Given the description of an element on the screen output the (x, y) to click on. 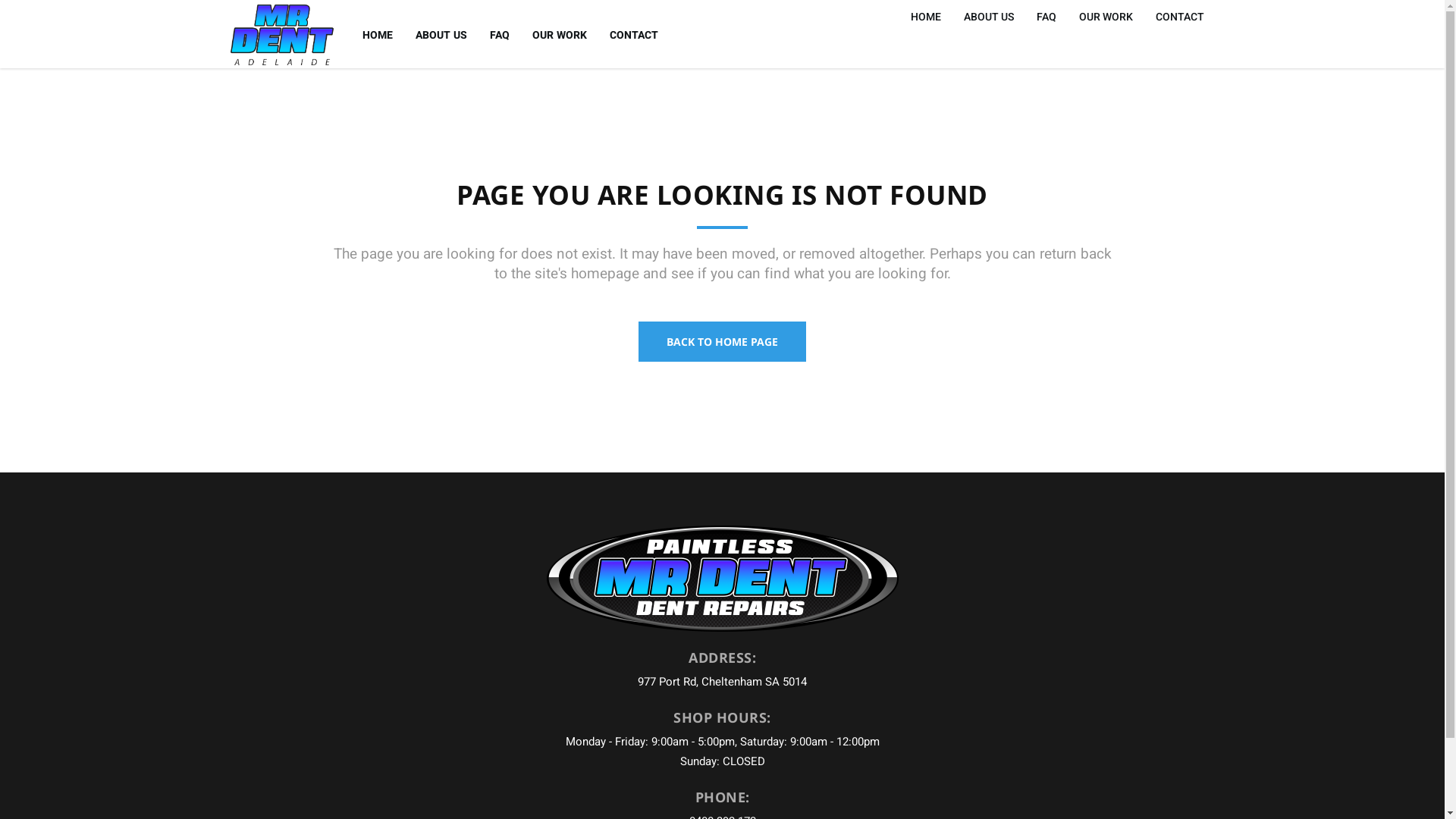
FAQ Element type: text (499, 34)
CONTACT Element type: text (633, 34)
HOME Element type: text (377, 34)
BACK TO HOME PAGE Element type: text (722, 341)
ABOUT US Element type: text (441, 34)
OUR WORK Element type: text (559, 34)
